Given the description of an element on the screen output the (x, y) to click on. 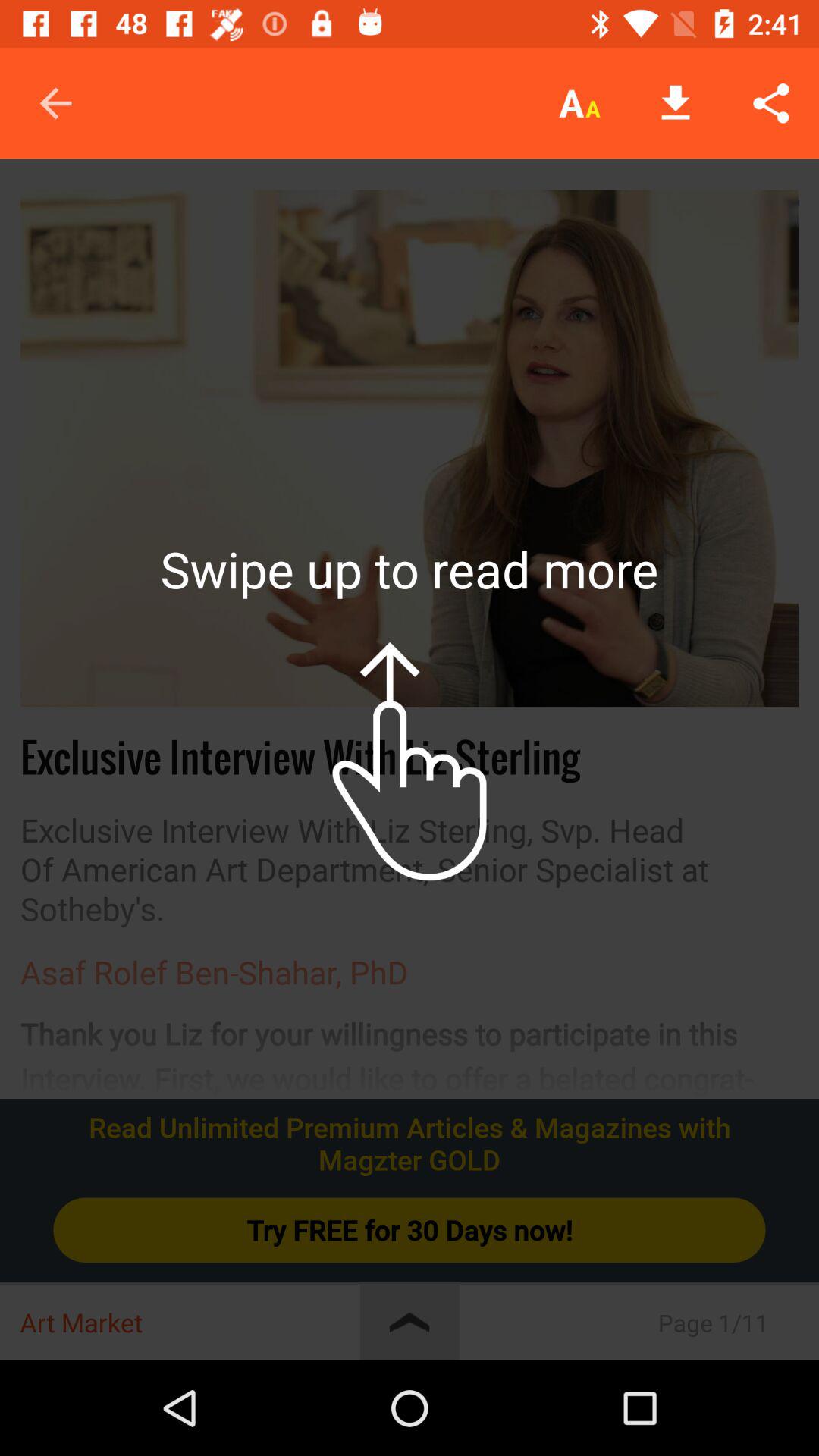
turn on the try free for item (409, 1229)
